Given the description of an element on the screen output the (x, y) to click on. 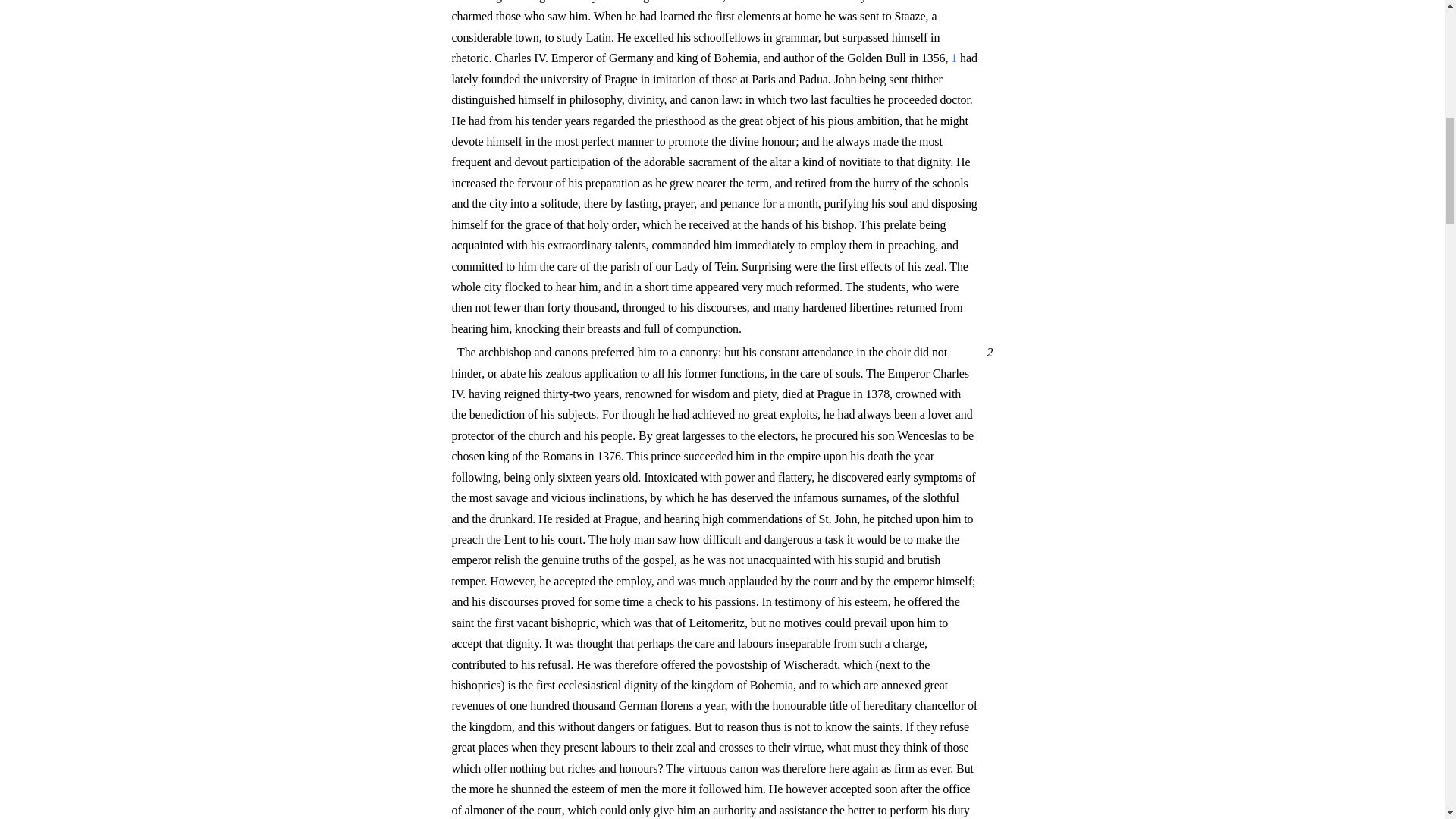
  2 (986, 351)
